Given the description of an element on the screen output the (x, y) to click on. 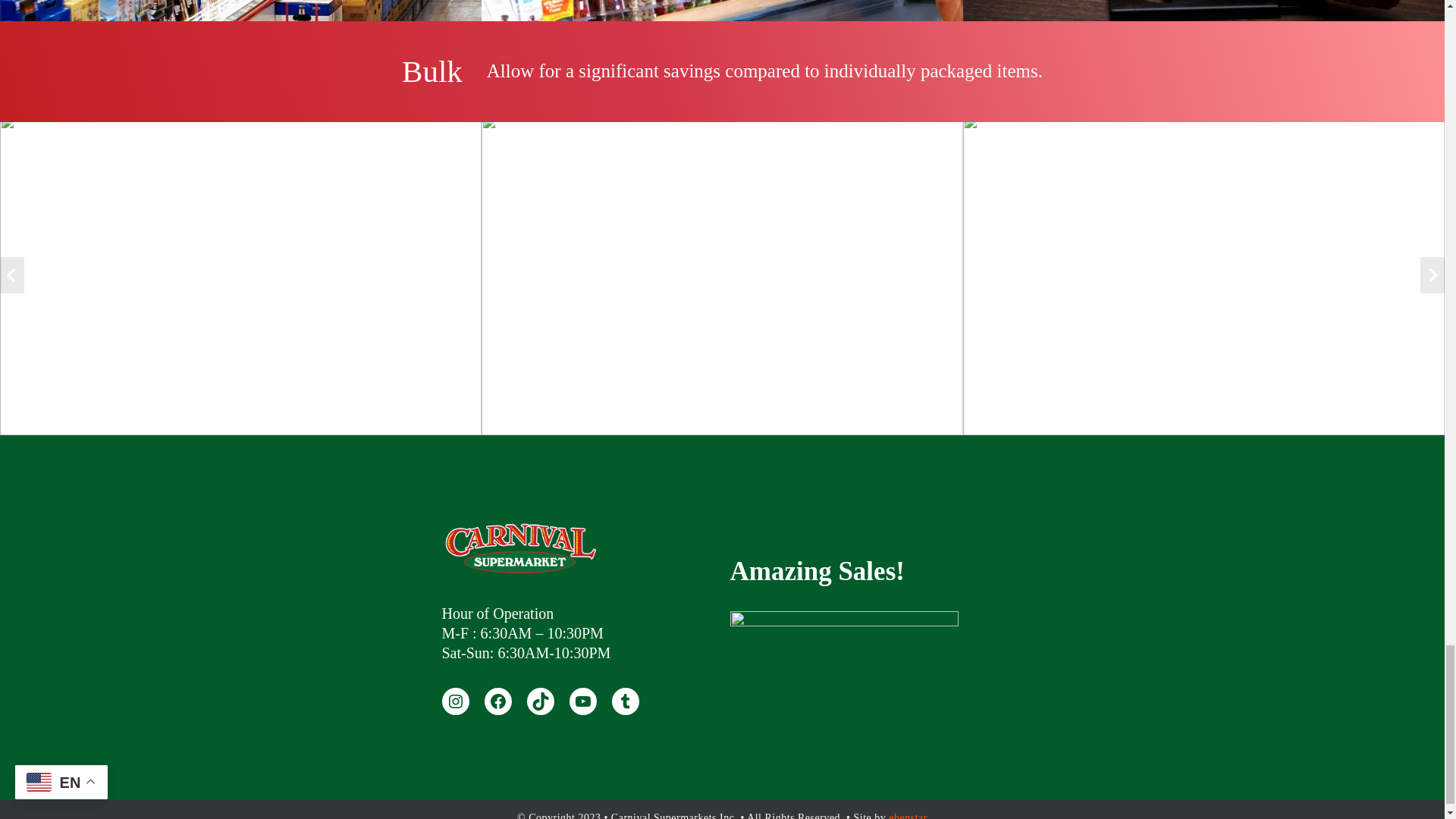
Facebook (497, 700)
Tumblr (625, 700)
Instagram (454, 700)
ebenstar (907, 815)
TikTok (539, 700)
YouTube (582, 700)
